Given the description of an element on the screen output the (x, y) to click on. 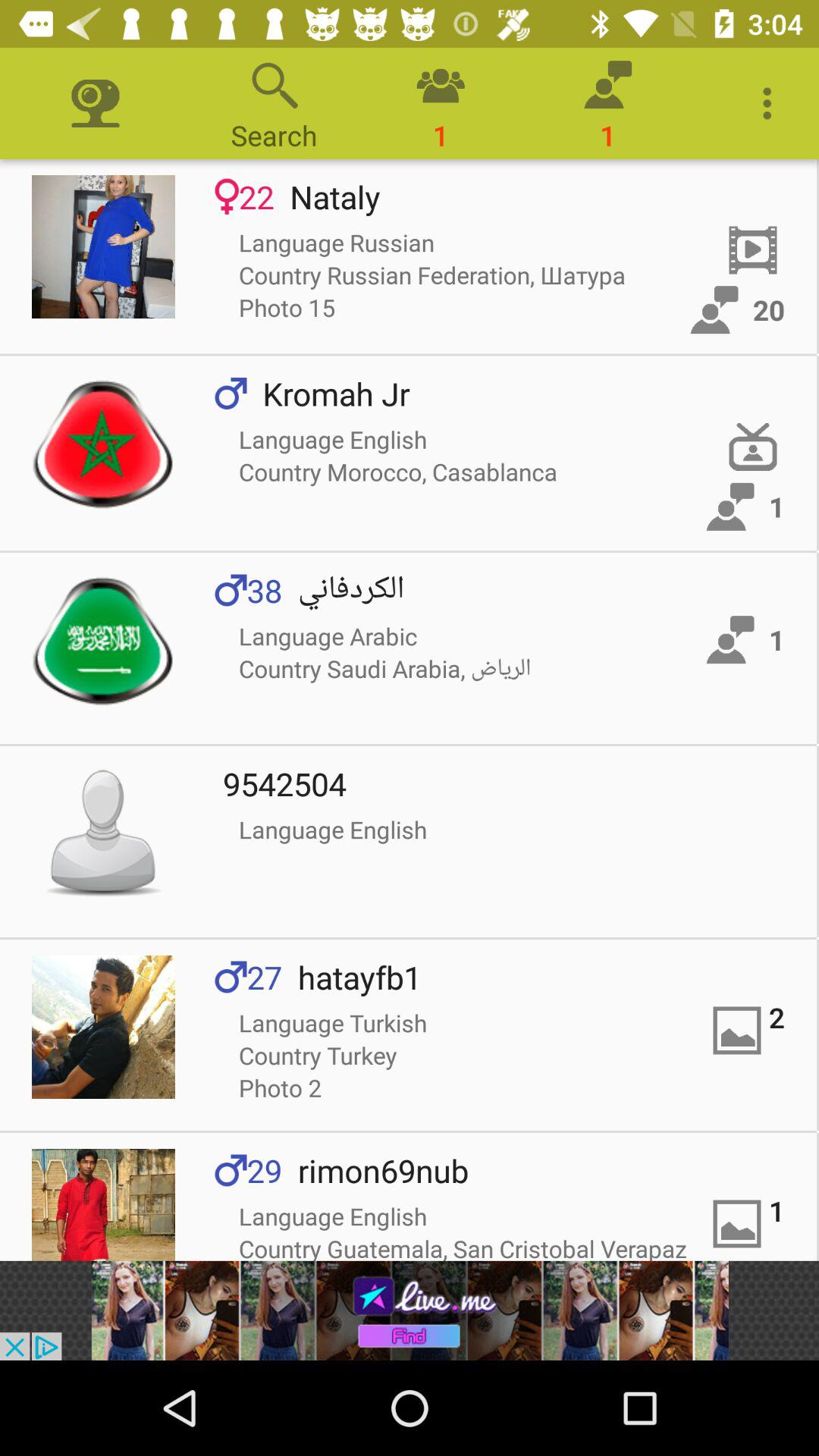
show profile (103, 246)
